Given the description of an element on the screen output the (x, y) to click on. 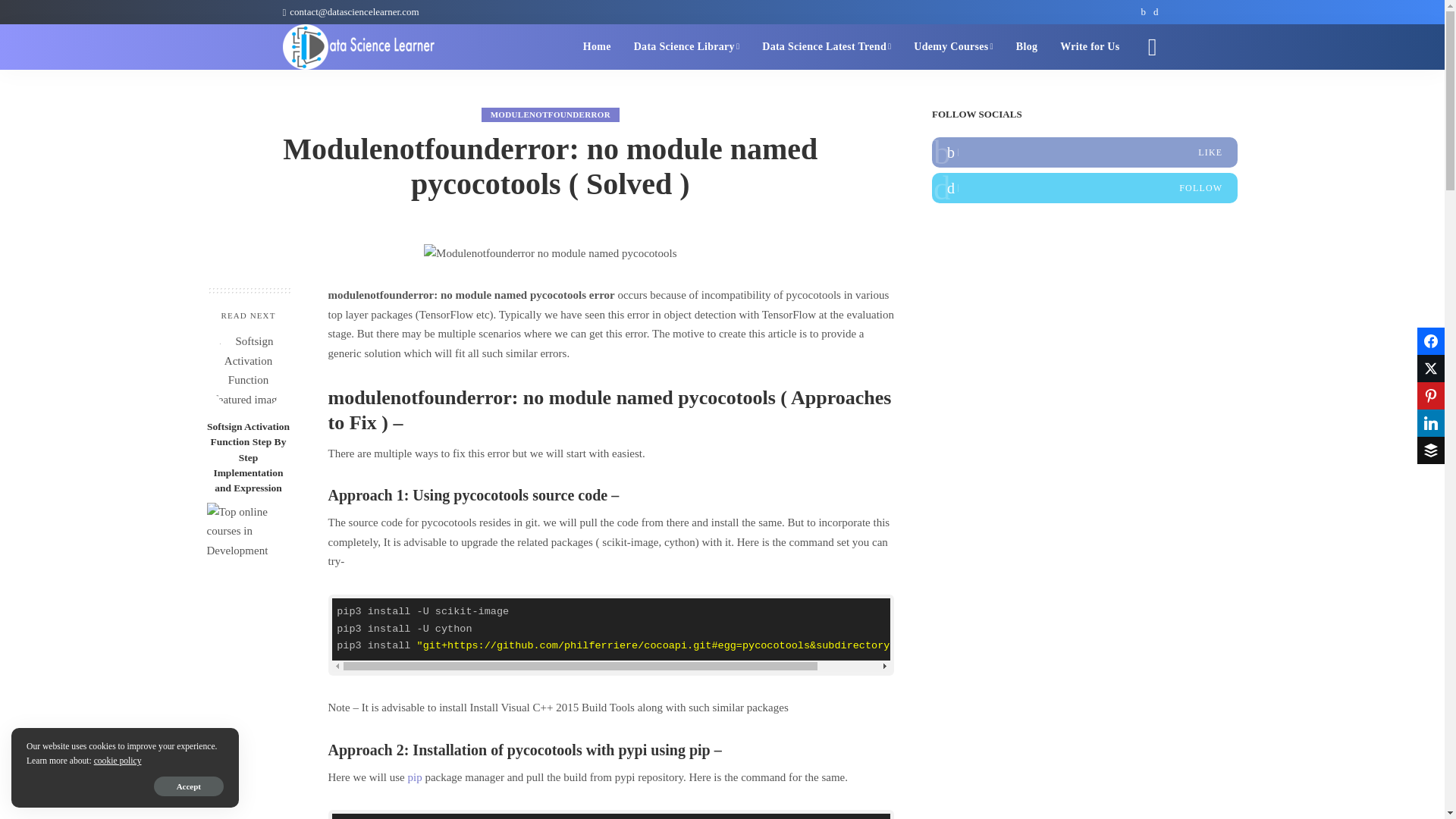
Home (597, 46)
Facebook (1084, 152)
Data Science Learner (359, 46)
Twitter (1084, 187)
